Given the description of an element on the screen output the (x, y) to click on. 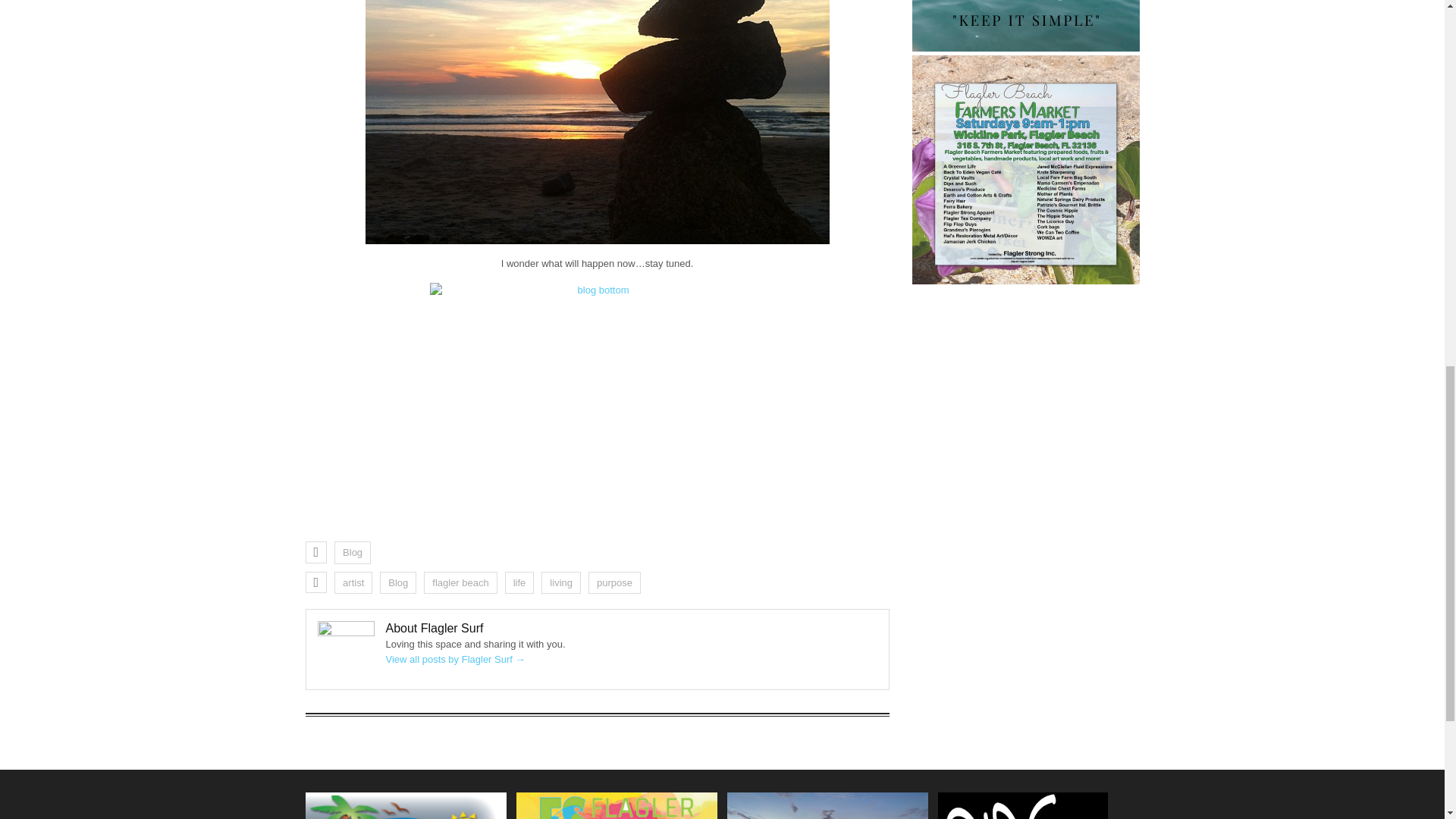
Blog (398, 582)
life (519, 582)
living (560, 582)
flagler beach (459, 582)
purpose (614, 582)
Blog (352, 552)
artist (353, 582)
